Given the description of an element on the screen output the (x, y) to click on. 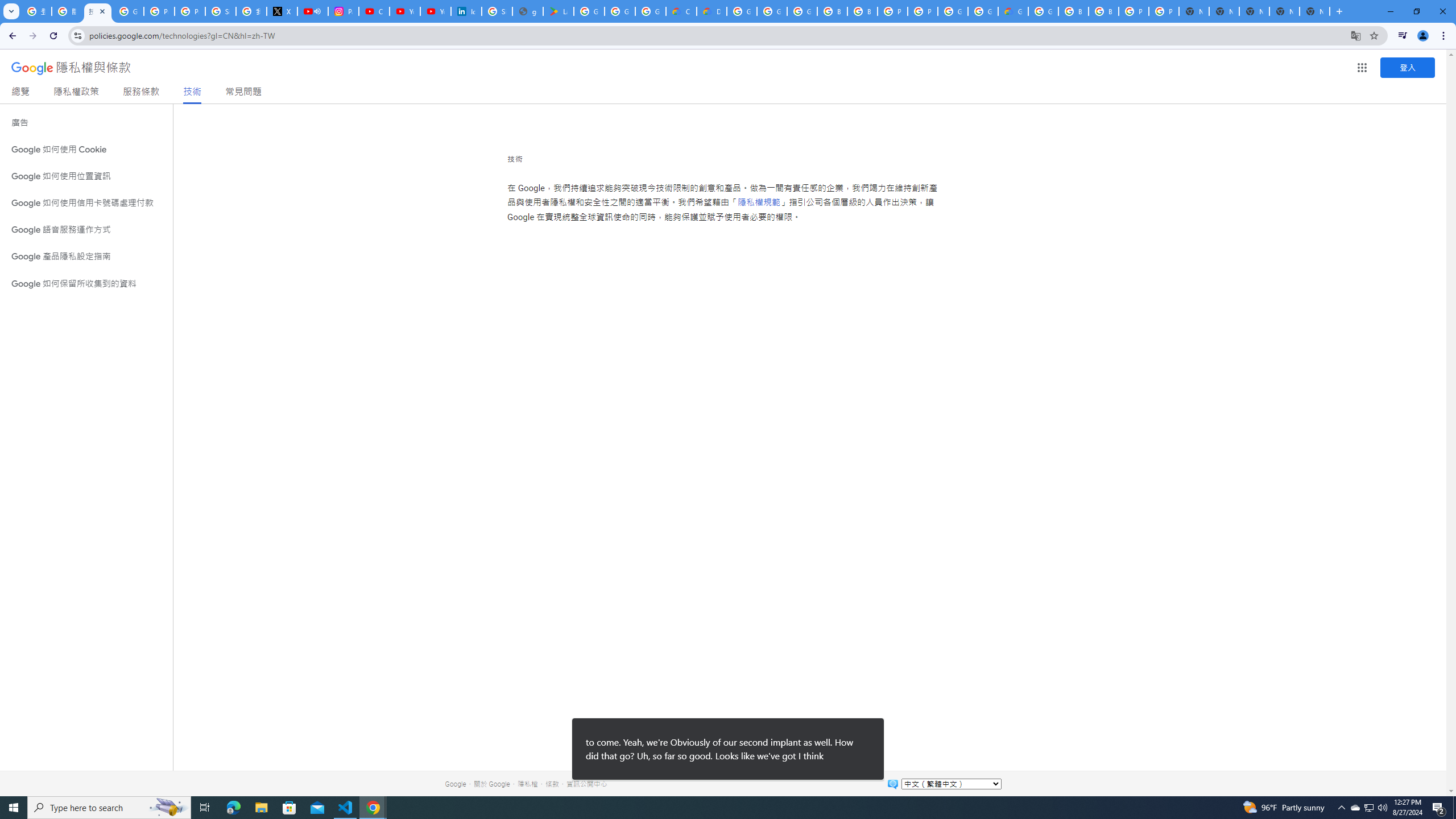
Translate this page (1355, 35)
Google Cloud Platform (741, 11)
Google Cloud Platform (982, 11)
